Given the description of an element on the screen output the (x, y) to click on. 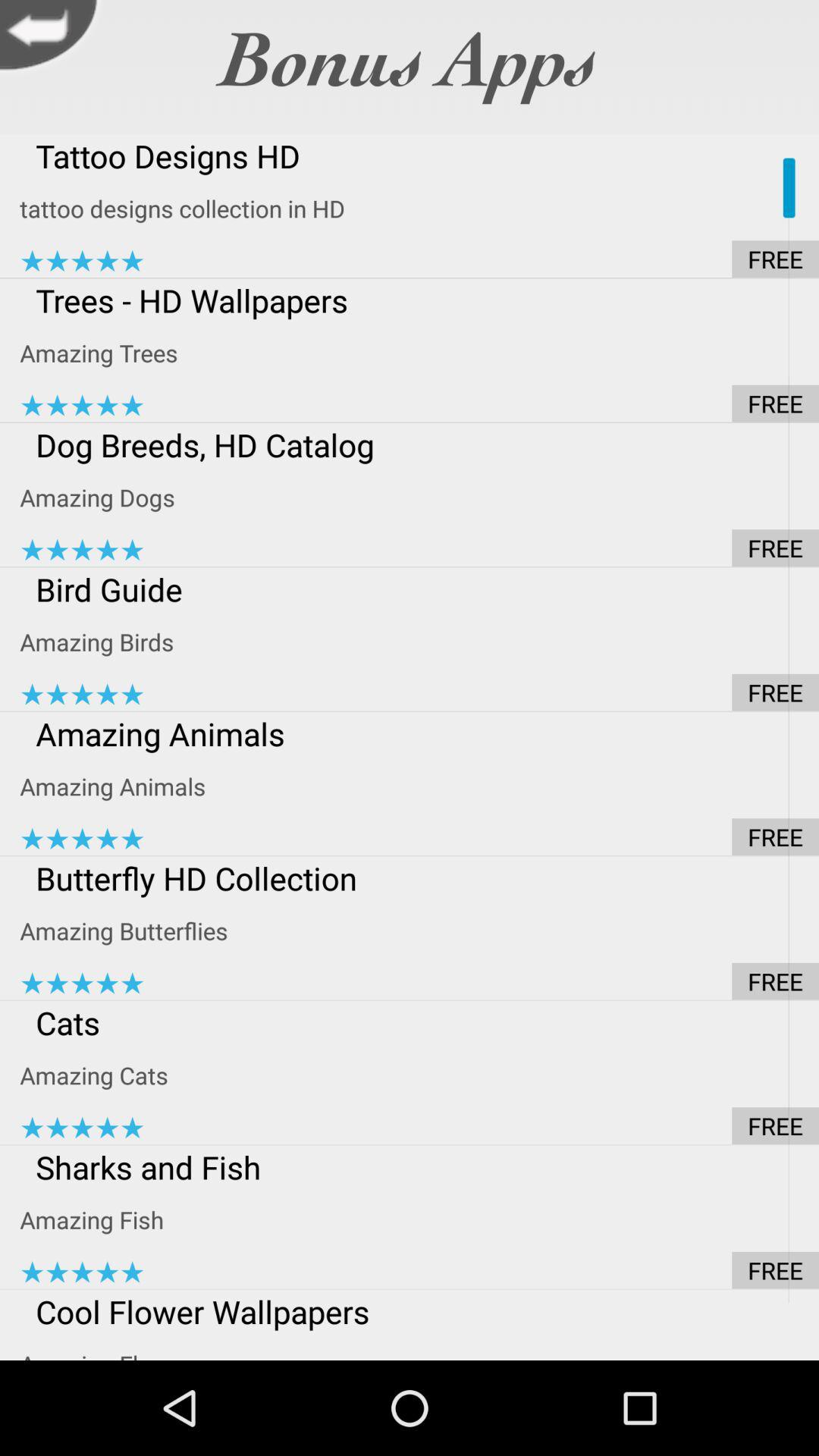
choose icon below the   bird guide (419, 641)
